Given the description of an element on the screen output the (x, y) to click on. 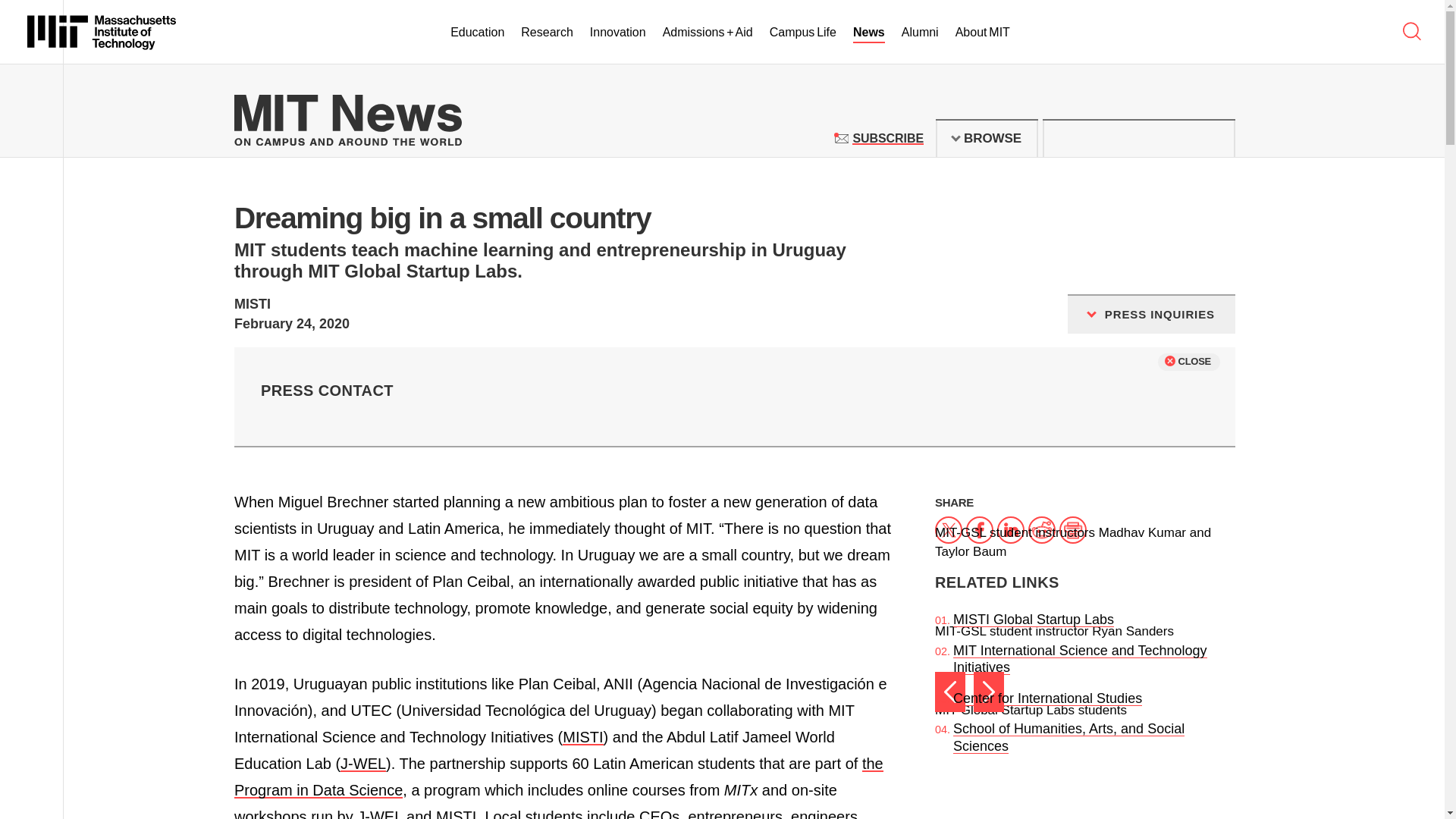
BROWSE (987, 138)
Massachusetts Institute of Technology (101, 32)
Submit (1214, 138)
Campus Life (802, 32)
